Given the description of an element on the screen output the (x, y) to click on. 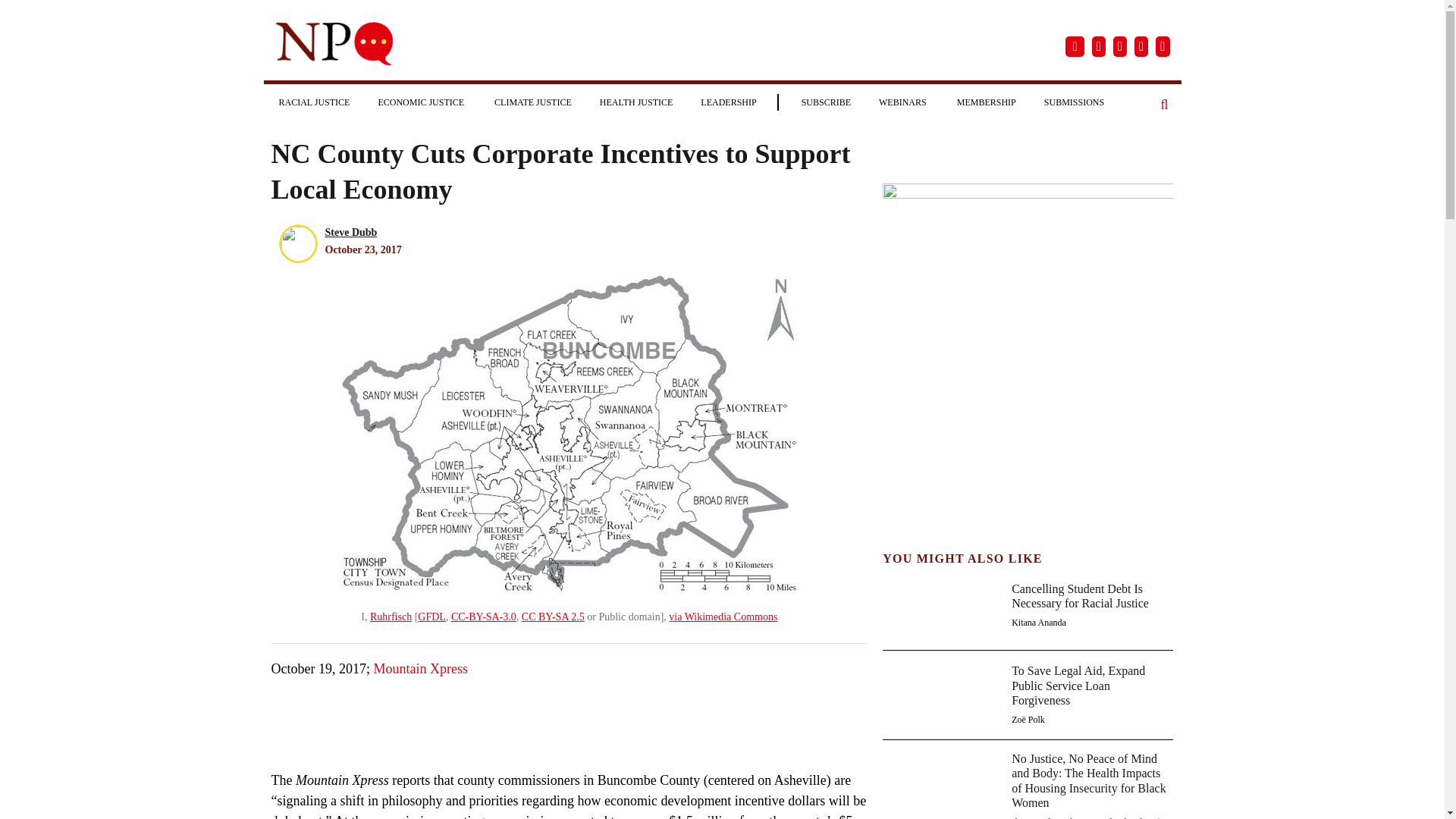
Submissions (1074, 102)
Ruhrfisch (390, 616)
CC BY-SA 2.5 (553, 616)
Economic Justice (421, 102)
Leadership (727, 102)
SUBSCRIBE (826, 102)
Posts by Steve Dubb (350, 232)
ECONOMIC JUSTICE (421, 102)
RACIAL JUSTICE (314, 102)
WEBINARS (903, 102)
